Given the description of an element on the screen output the (x, y) to click on. 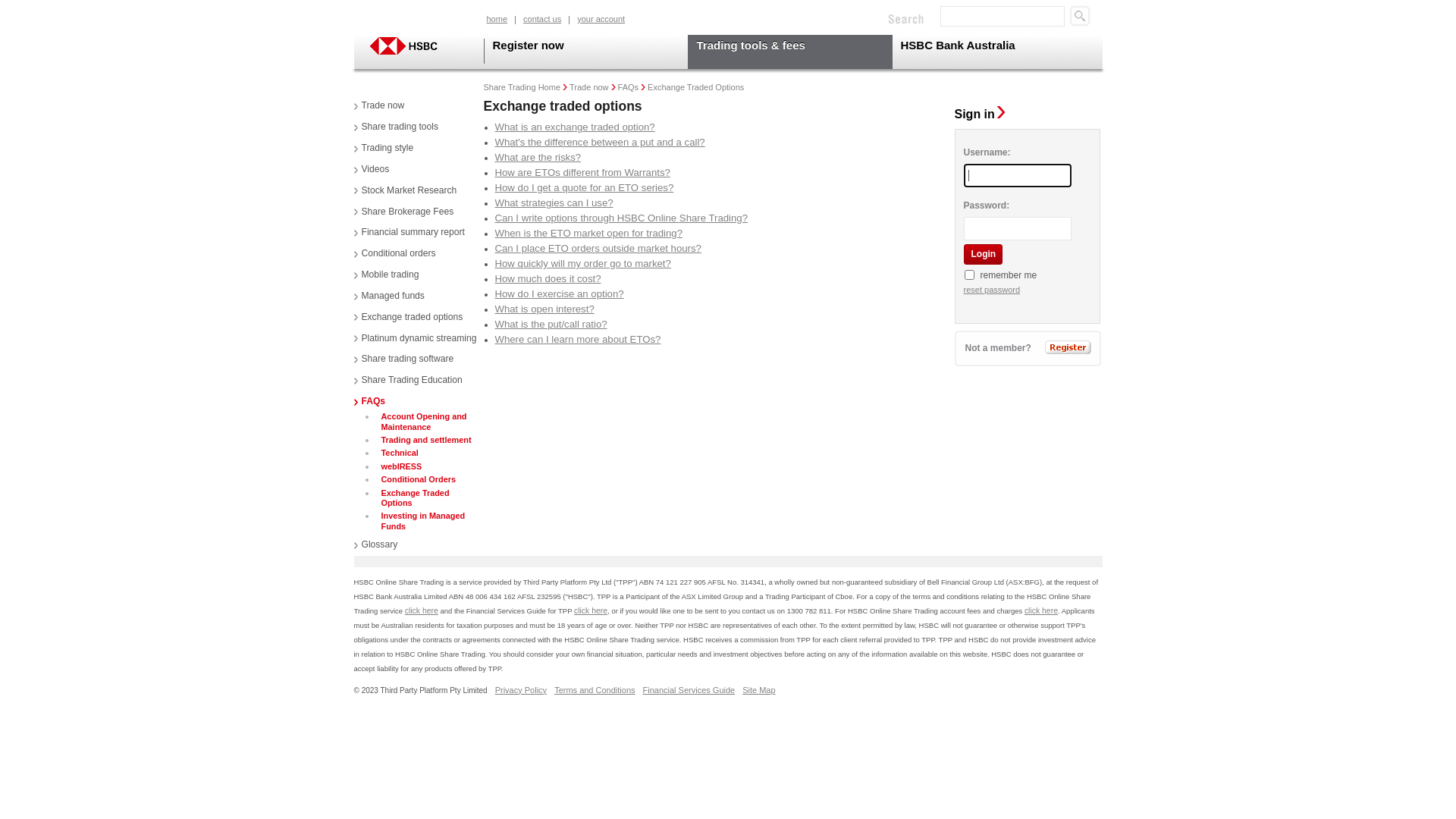
Account Opening and Maintenance Element type: text (430, 421)
Trade now Element type: text (588, 86)
Managed funds Element type: text (388, 296)
What is the put/call ratio? Element type: text (550, 323)
HSBC Online Share Trading logo Element type: text (417, 45)
Where can I learn more about ETOs? Element type: text (577, 339)
How do I get a quote for an ETO series? Element type: text (583, 187)
HSBC Bank Australia Element type: text (991, 51)
Trade now Element type: text (378, 105)
How much does it cost? Element type: text (547, 278)
your account Element type: text (600, 19)
Technical Element type: text (397, 453)
Trading and settlement Element type: text (424, 440)
Site Map Element type: text (758, 689)
Trading style Element type: text (383, 148)
click here Element type: text (590, 610)
What is open interest? Element type: text (543, 308)
Login Element type: text (982, 254)
When is the ETO market open for trading? Element type: text (588, 232)
Stock Market Research Element type: text (404, 190)
Share Brokerage Fees Element type: text (403, 211)
Platinum dynamic streaming Element type: text (414, 338)
Videos Element type: text (371, 169)
How do I exercise an option? Element type: text (558, 293)
Financial summary report Element type: text (408, 232)
Terms and Conditions Element type: text (594, 689)
Share Trading Education Element type: text (407, 380)
Trading tools & fees Element type: text (789, 51)
Mobile trading Element type: text (385, 274)
How are ETOs different from Warrants? Element type: text (581, 172)
Share Trading Home Element type: text (522, 86)
Conditional Orders Element type: text (416, 479)
Register now Element type: text (585, 51)
How quickly will my order go to market? Element type: text (582, 263)
Investing in Managed Funds Element type: text (430, 521)
Financial Services Guide Element type: text (689, 689)
What are the risks? Element type: text (537, 157)
Glossary Element type: text (375, 544)
Exchange Traded Options Element type: text (695, 86)
What strategies can I use? Element type: text (553, 202)
click here Element type: text (1040, 610)
FAQs Element type: text (628, 86)
What's the difference between a put and a call? Element type: text (599, 141)
Can I write options through HSBC Online Share Trading? Element type: text (620, 217)
home Element type: text (497, 19)
webIRESS Element type: text (399, 466)
reset password Element type: text (991, 289)
Exchange Traded Options Element type: text (430, 498)
Exchange traded options Element type: text (407, 317)
Can I place ETO orders outside market hours? Element type: text (597, 248)
Share trading software Element type: text (403, 359)
Share trading tools Element type: text (395, 127)
click here Element type: text (421, 610)
What is an exchange traded option? Element type: text (574, 126)
Privacy Policy Element type: text (520, 689)
register Element type: text (1067, 347)
contact us Element type: text (542, 19)
Conditional orders Element type: text (394, 253)
FAQs Element type: text (369, 401)
